Given the description of an element on the screen output the (x, y) to click on. 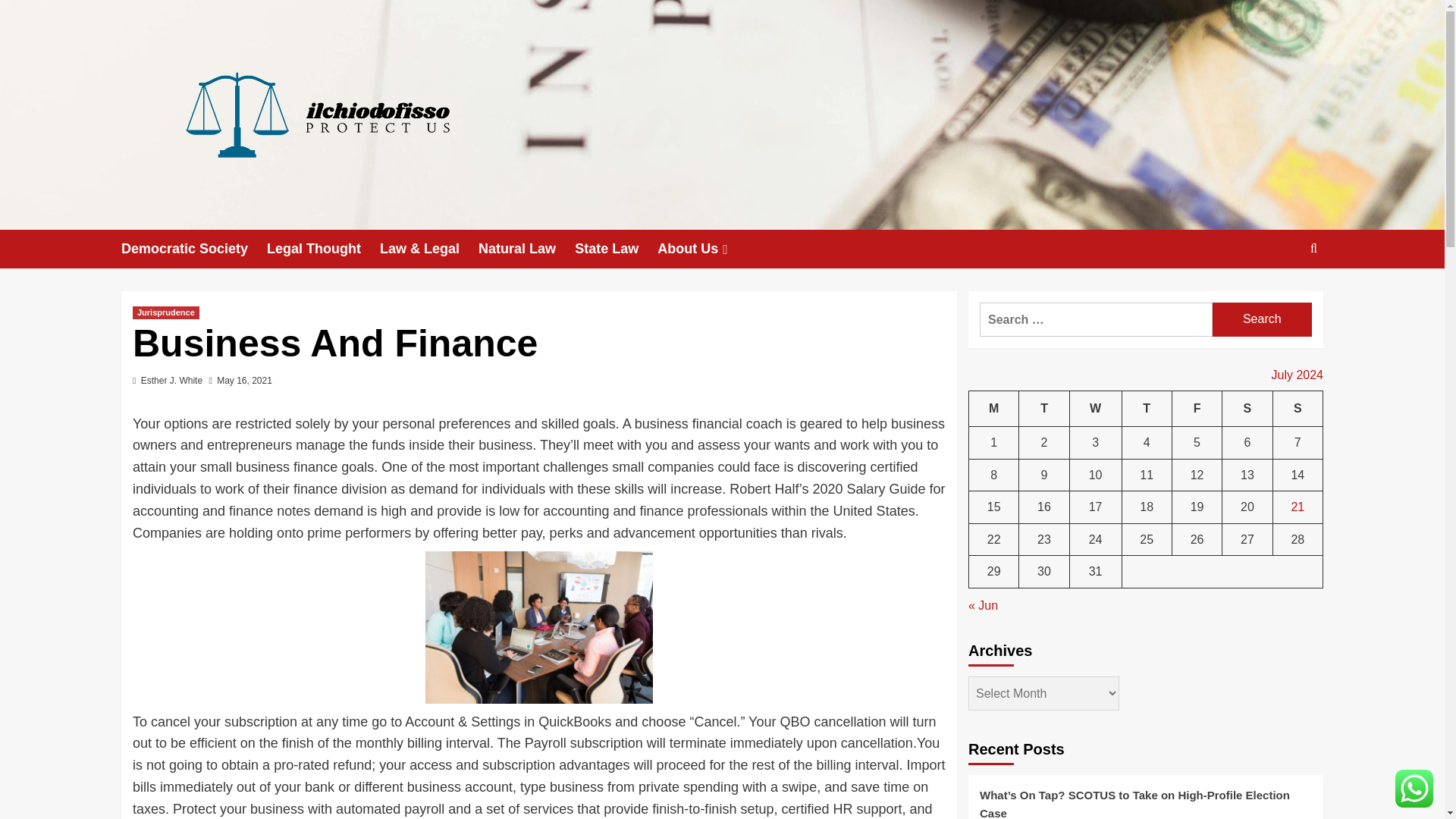
Democratic Society (193, 249)
May 16, 2021 (244, 380)
Search (1261, 319)
Tuesday (1043, 408)
Sunday (1297, 408)
Search (1278, 295)
Saturday (1247, 408)
State Law (616, 249)
Thursday (1146, 408)
Search (1261, 319)
Esther J. White (171, 380)
Legal Thought (323, 249)
Friday (1196, 408)
Wednesday (1094, 408)
Jurisprudence (165, 312)
